Given the description of an element on the screen output the (x, y) to click on. 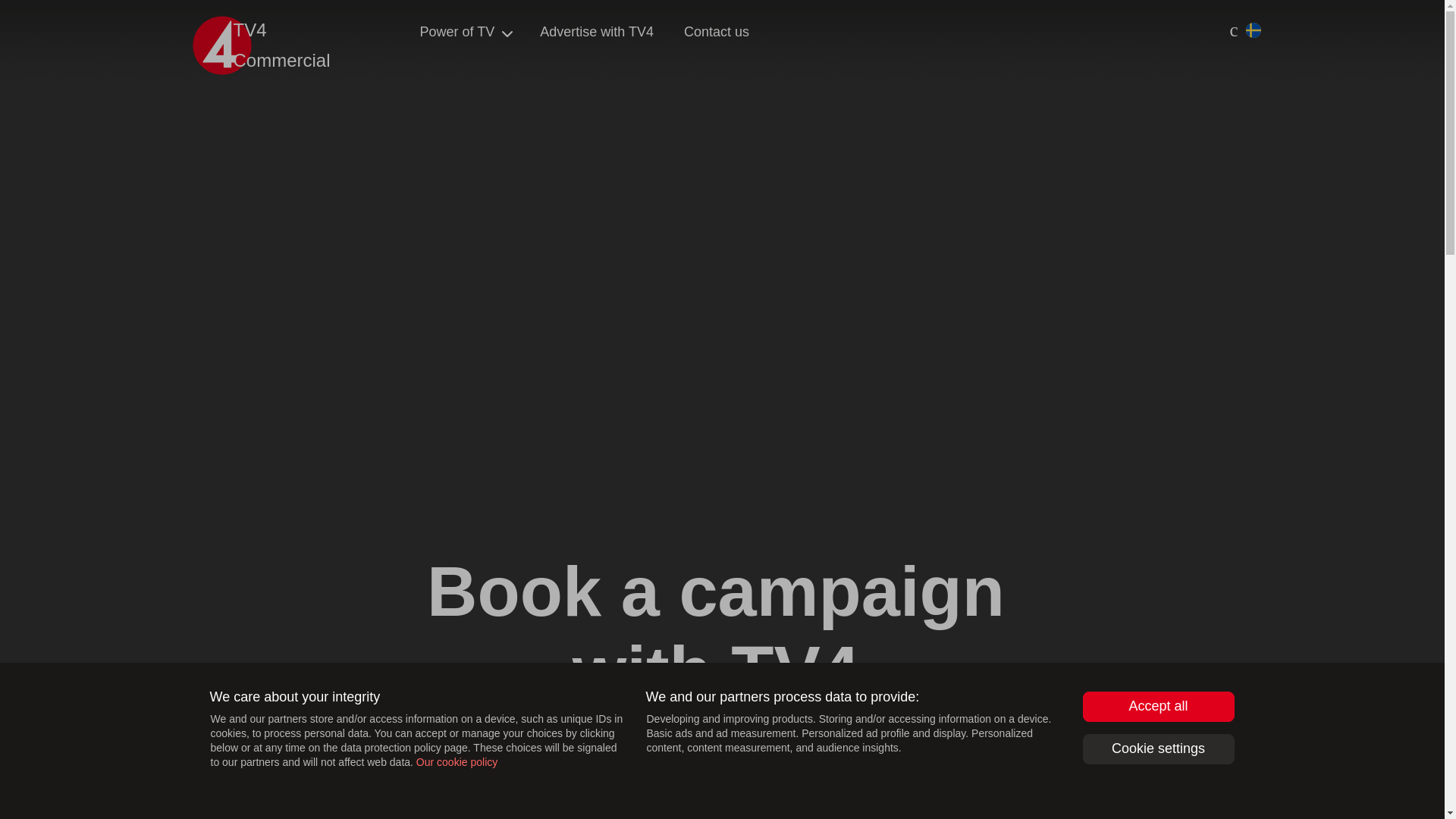
Advertise with TV4 (596, 31)
TV4 Commercial (278, 45)
Power of TV (456, 31)
Cookie settings (1158, 748)
Accept all (1158, 706)
Contact us (716, 31)
Our cookie policy (456, 761)
